Given the description of an element on the screen output the (x, y) to click on. 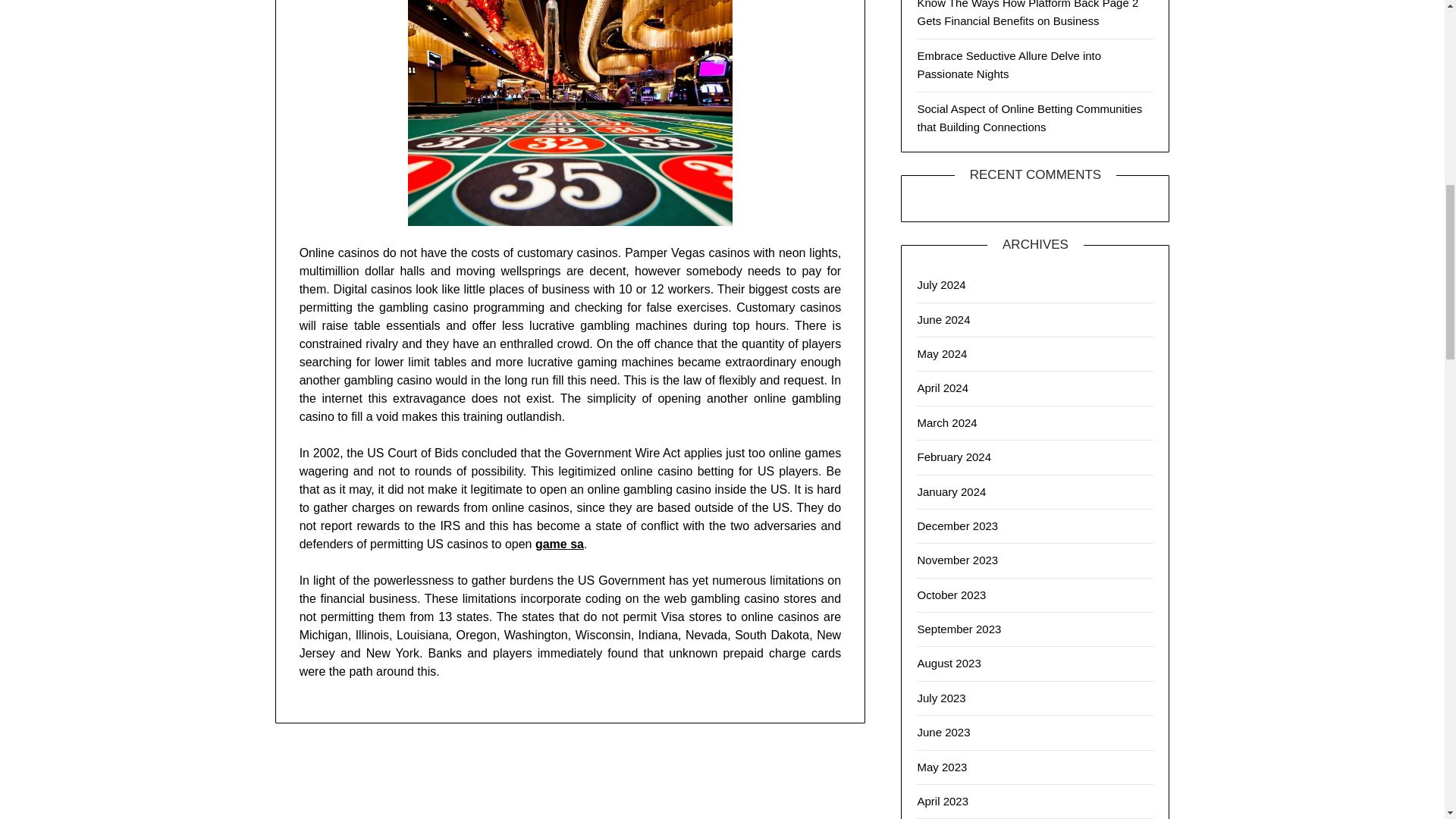
November 2023 (957, 559)
June 2024 (943, 318)
February 2024 (954, 456)
Embrace Seductive Allure Delve into Passionate Nights (1008, 64)
September 2023 (959, 628)
game sa (559, 543)
June 2023 (943, 731)
October 2023 (951, 594)
May 2023 (941, 766)
March 2024 (946, 422)
July 2024 (941, 284)
August 2023 (948, 662)
April 2024 (942, 387)
